Given the description of an element on the screen output the (x, y) to click on. 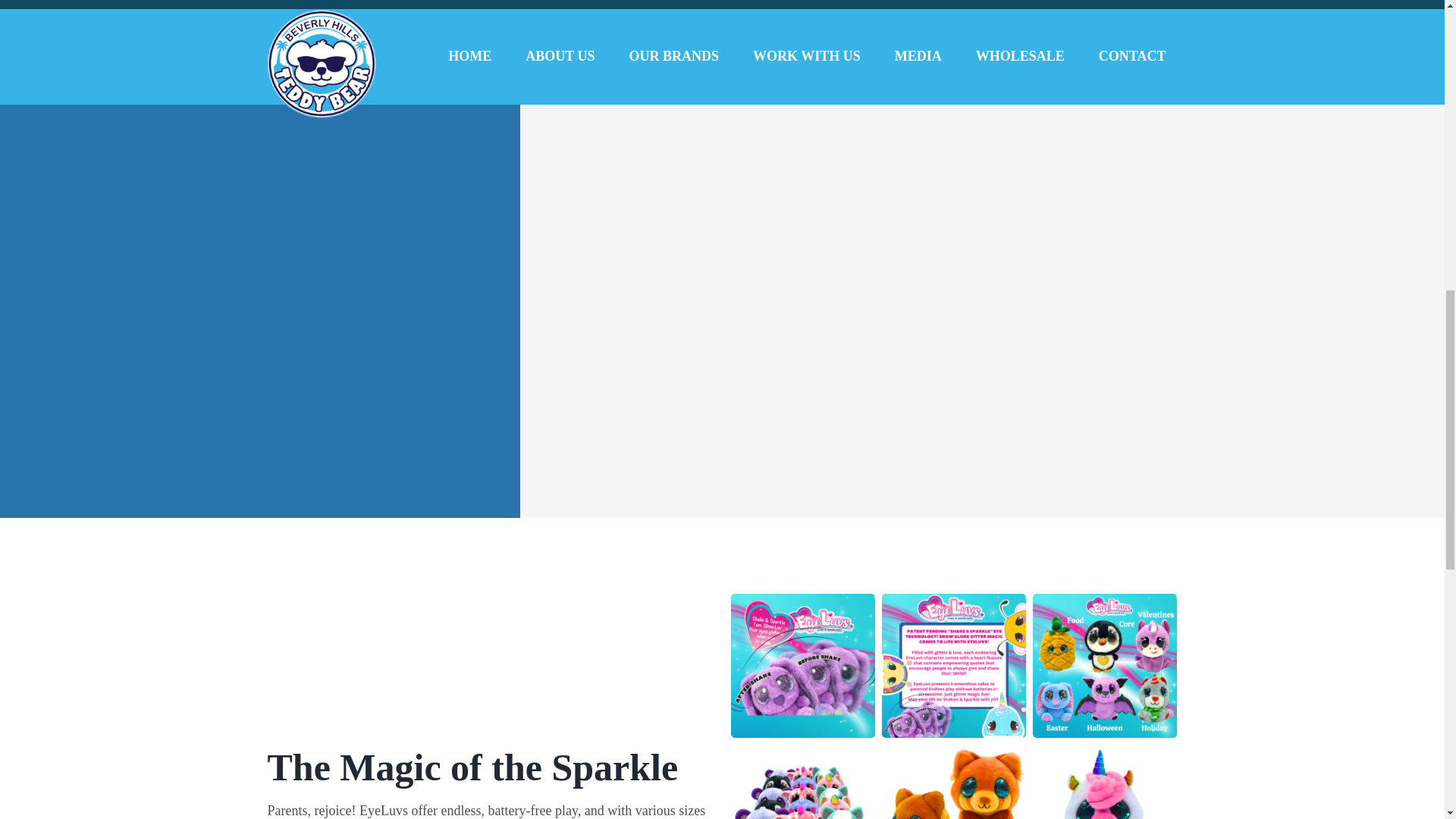
EyeLuvs (953, 781)
picture eyeluvs (1104, 781)
